Given the description of an element on the screen output the (x, y) to click on. 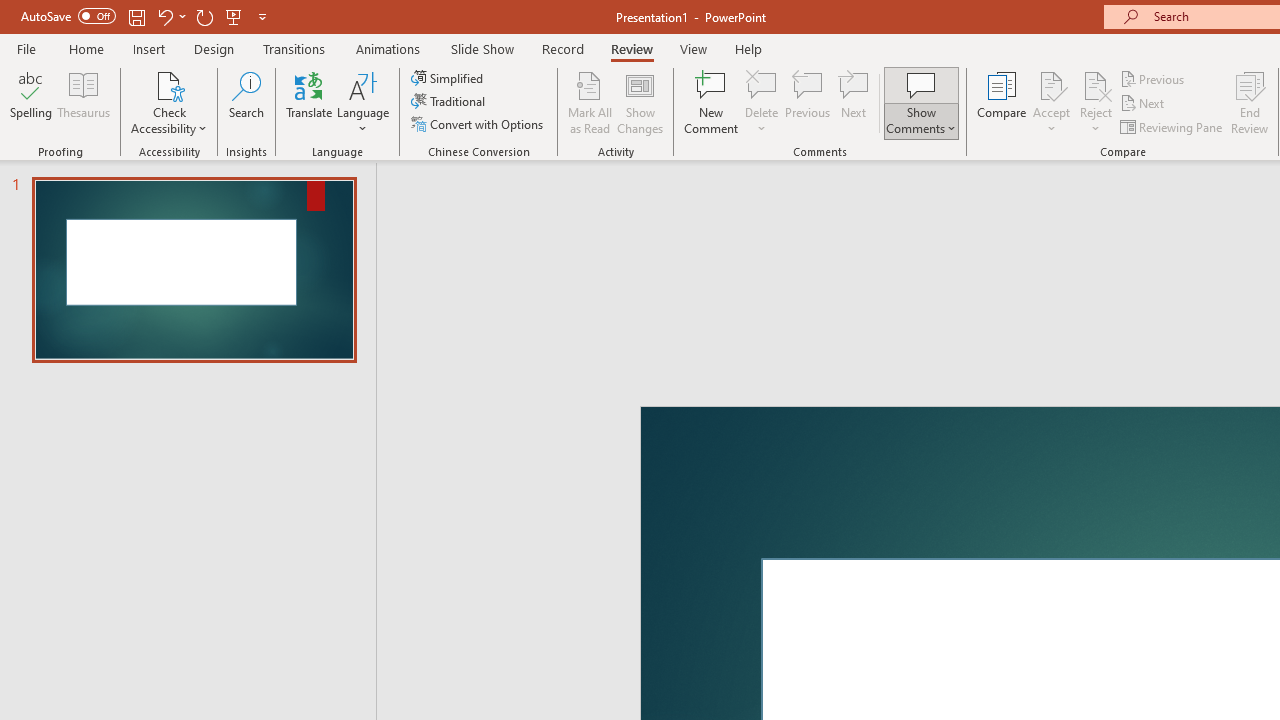
Bookmark... (1079, 161)
Blank Page (125, 161)
Design (495, 84)
Review (1007, 84)
AutoSave (140, 31)
Layout (584, 84)
Chart... (732, 161)
Quick Access Toolbar (233, 32)
Cross-reference... (1165, 161)
Page Break (190, 161)
